Given the description of an element on the screen output the (x, y) to click on. 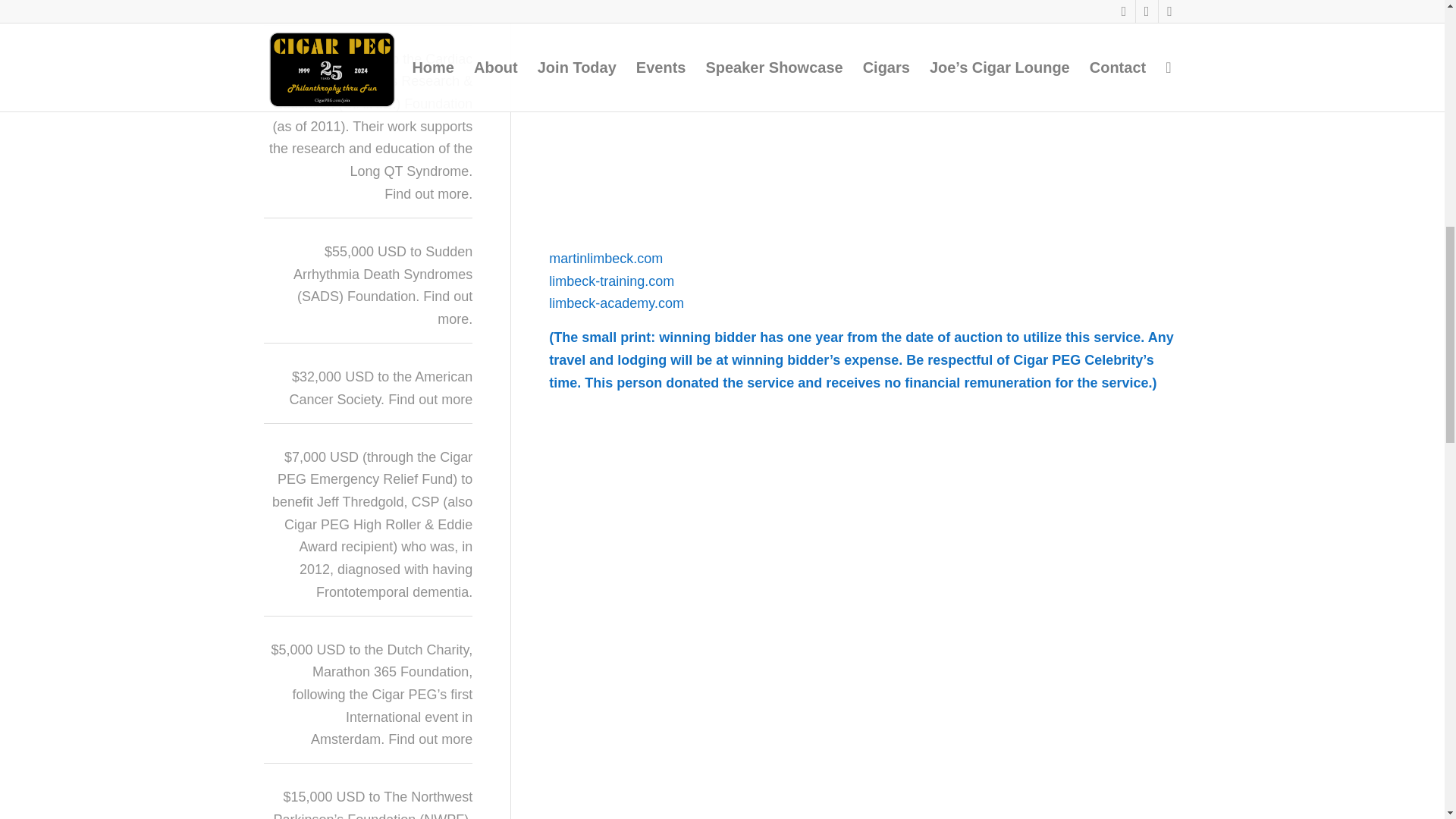
limbeck-academy.com (616, 303)
limbeck-training.com (611, 281)
martinlimbeck.com (605, 258)
